Given the description of an element on the screen output the (x, y) to click on. 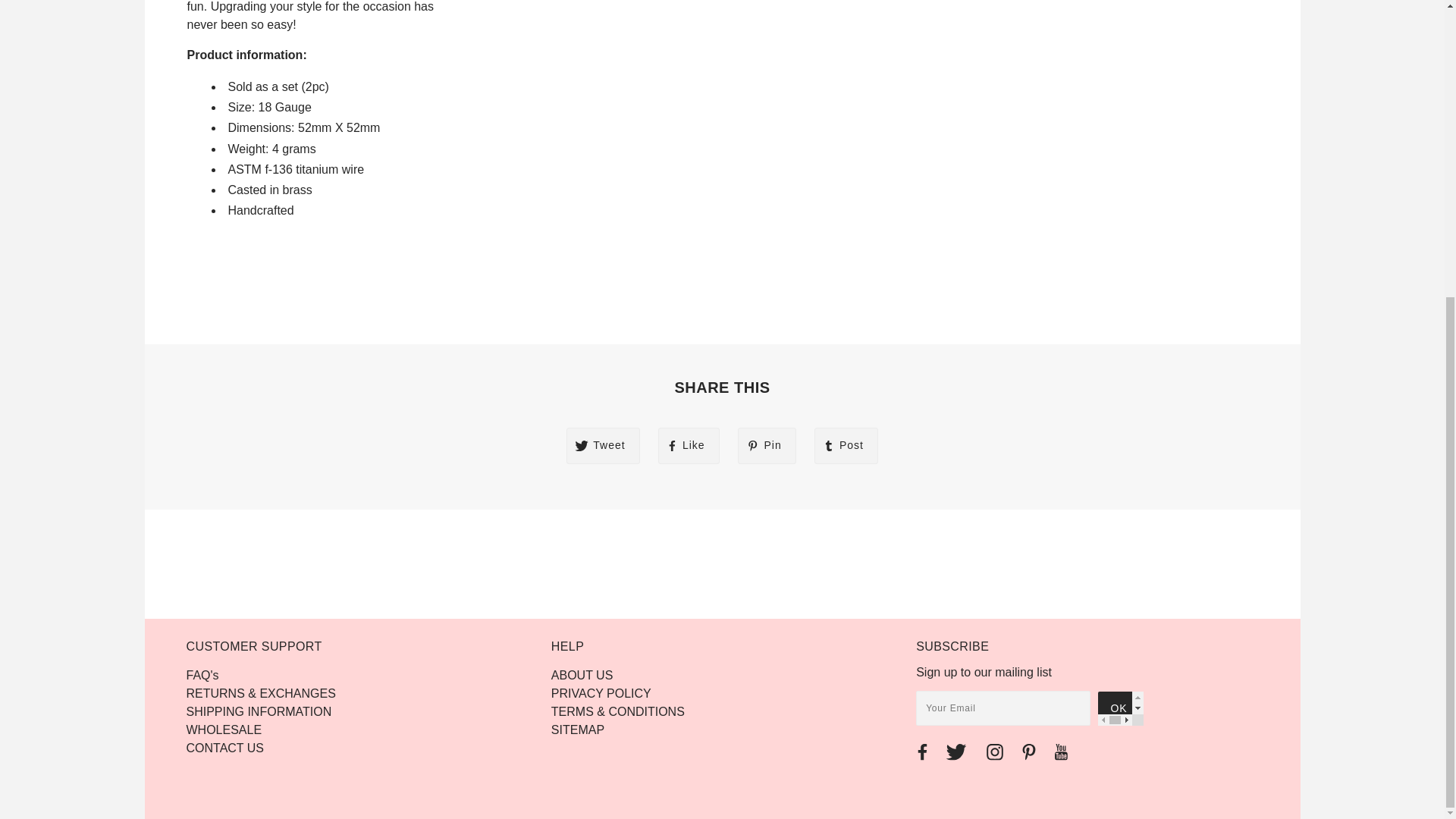
CONTACT US (225, 748)
FAQ's (202, 675)
ABOUT US (581, 675)
SITEMAP (577, 729)
Ok (1119, 708)
Like (688, 445)
Post (845, 445)
Tweet (603, 445)
ABOUT US (581, 675)
CONTACT US (225, 748)
SHIPPING INFORMATION (258, 711)
WHOLESALE (224, 729)
FAQ's (202, 675)
SHIPPING INFORMATION (258, 711)
SITEMAP (577, 729)
